Given the description of an element on the screen output the (x, y) to click on. 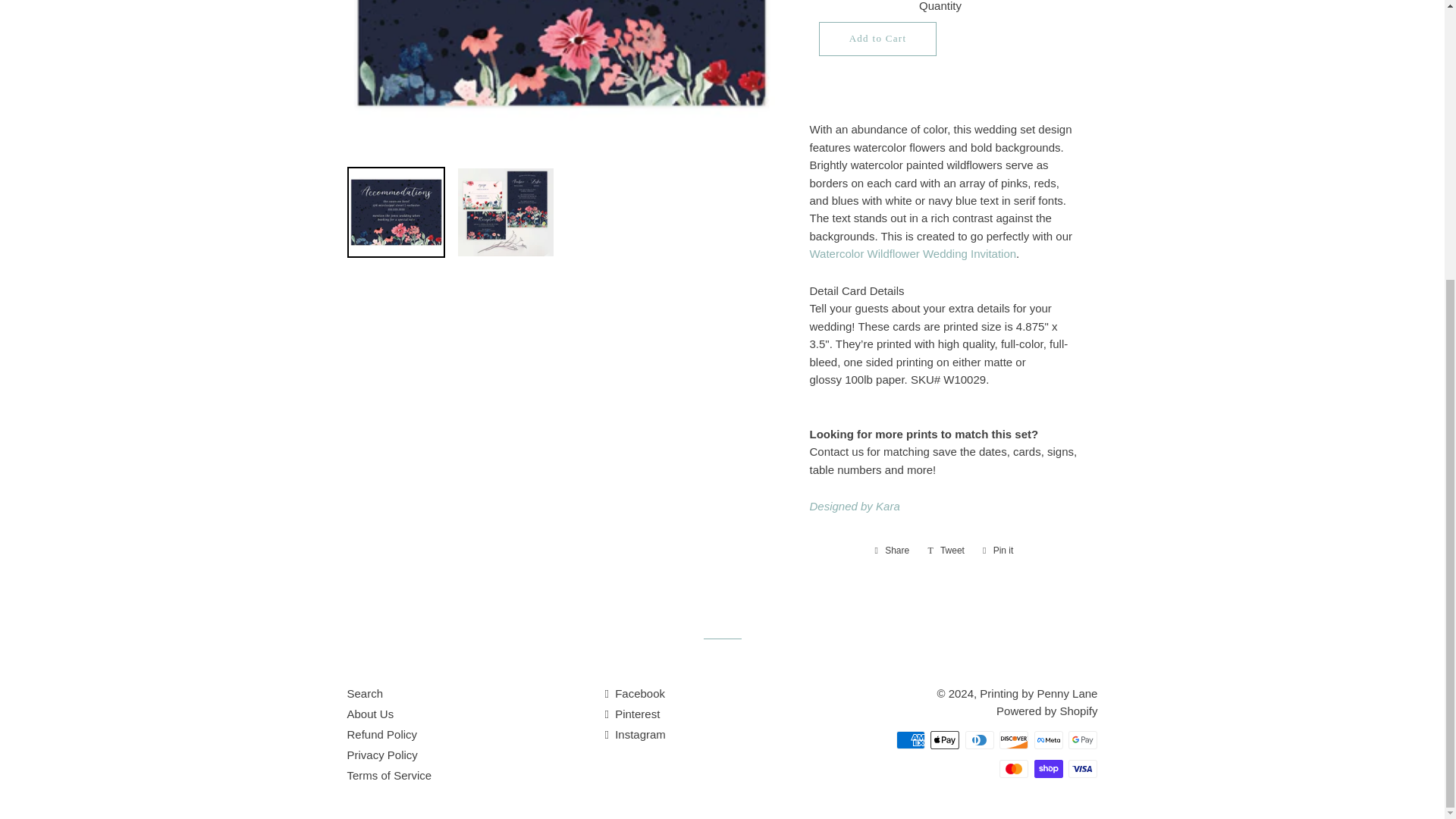
Printing by Penny Lane on Instagram (634, 734)
Tweet on Twitter (946, 550)
Shop Pay (1047, 769)
Watercolor Wildflower Wedding Invitation (912, 253)
Diners Club (979, 740)
Google Pay (1082, 740)
Pin on Pinterest (997, 550)
Discover (1012, 740)
Printing by Penny Lane on Pinterest (631, 713)
American Express (910, 740)
Visa (1082, 769)
Mastercard (1012, 769)
Share on Facebook (892, 550)
Printing by Penny Lane on Facebook (634, 693)
Apple Pay (944, 740)
